Given the description of an element on the screen output the (x, y) to click on. 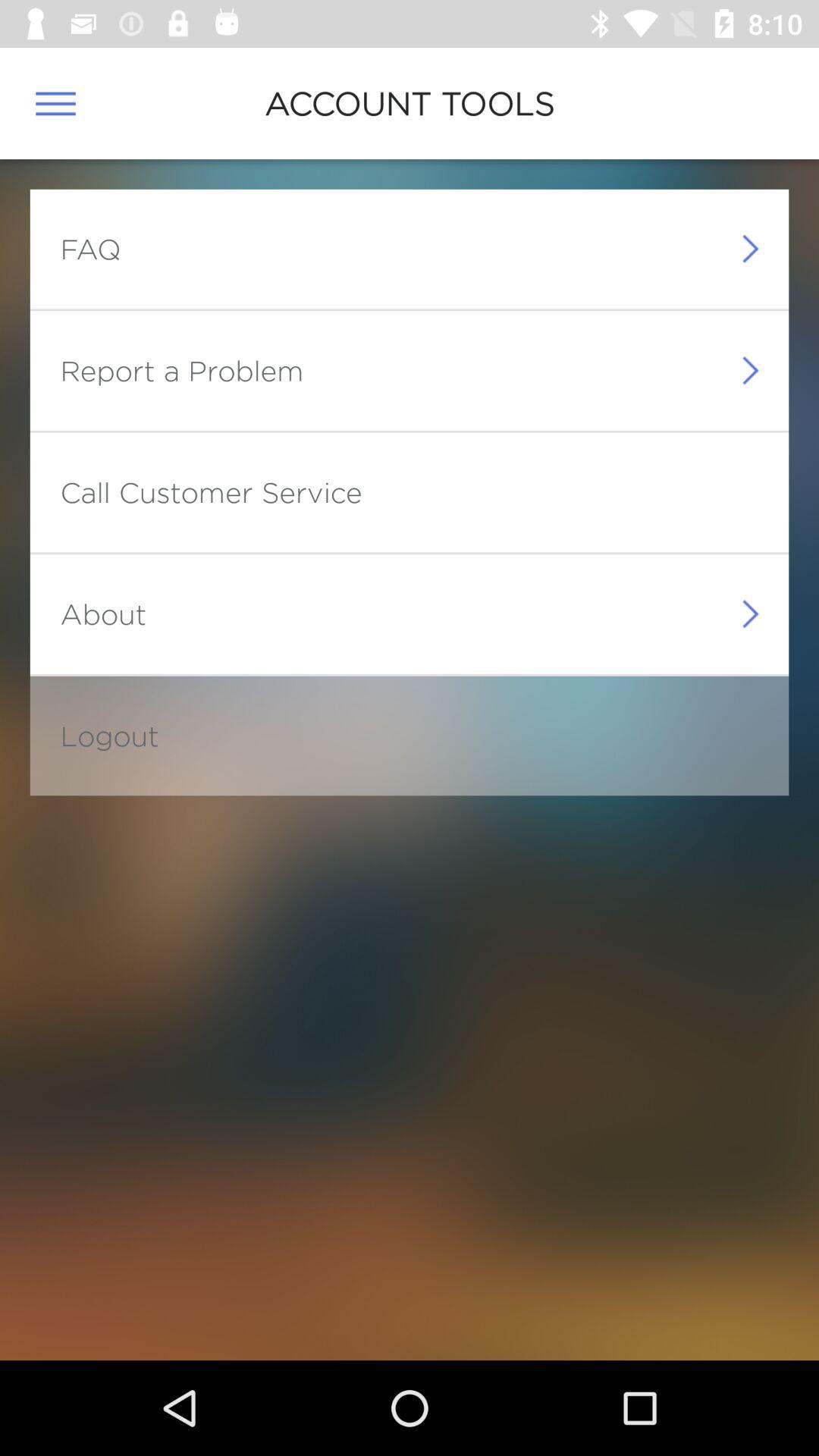
turn off report a problem item (181, 370)
